Given the description of an element on the screen output the (x, y) to click on. 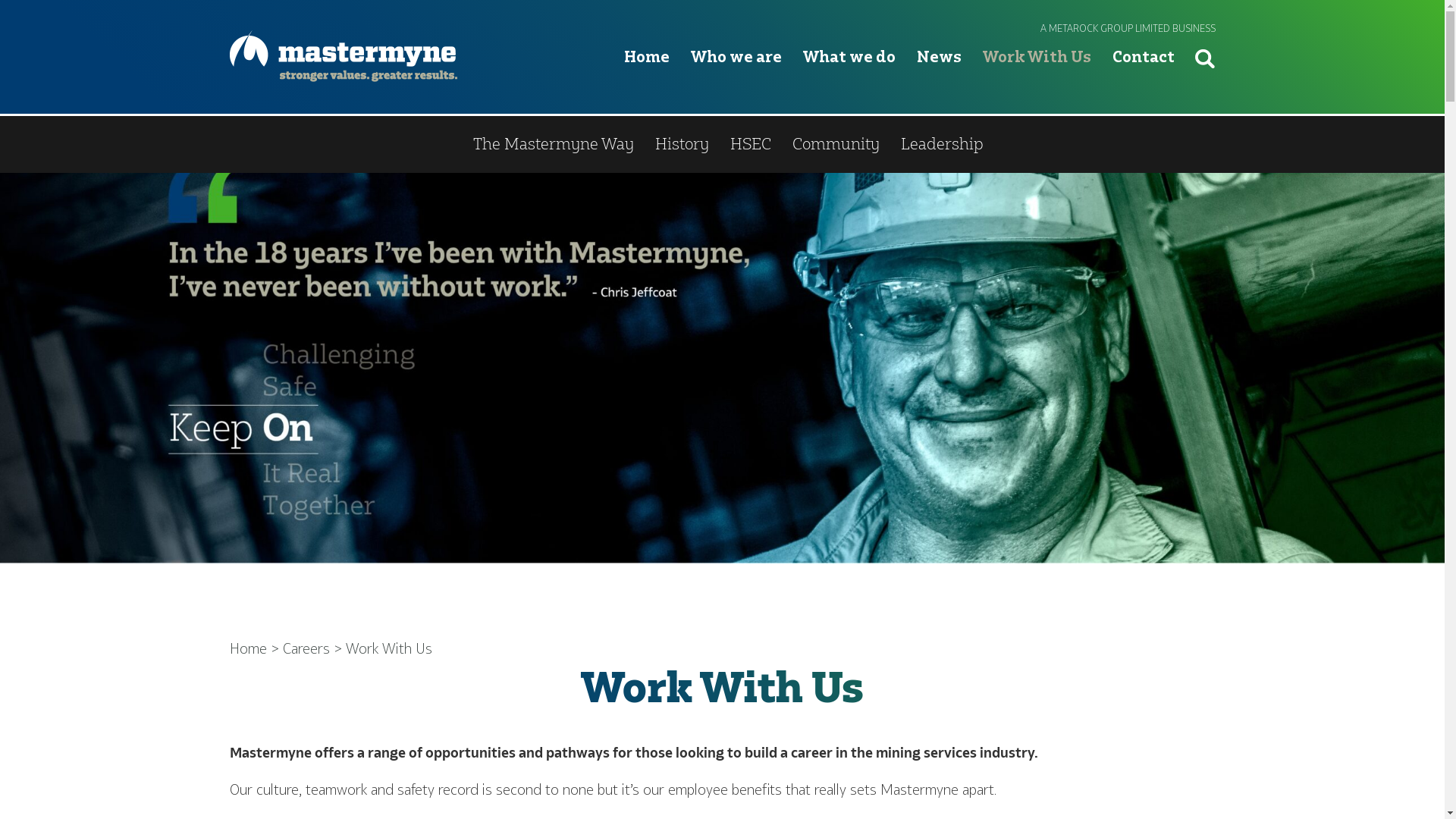
Who we are Element type: text (735, 80)
Community Element type: text (834, 144)
Work With Us Element type: text (1036, 80)
Mining Element type: text (585, 144)
Products Element type: text (793, 144)
Careers Element type: text (305, 649)
HSEC Element type: text (749, 144)
Contact Element type: text (1143, 80)
Leadership Element type: text (941, 144)
Search Element type: text (1204, 58)
News Element type: text (938, 80)
Home Element type: text (646, 80)
Home Element type: text (247, 649)
Wilson Mining Element type: text (686, 144)
Training Element type: text (877, 144)
Projects Element type: text (958, 144)
Overview Element type: text (503, 144)
What we do Element type: text (849, 80)
History Element type: text (682, 144)
The Mastermyne Way Element type: text (553, 144)
